Given the description of an element on the screen output the (x, y) to click on. 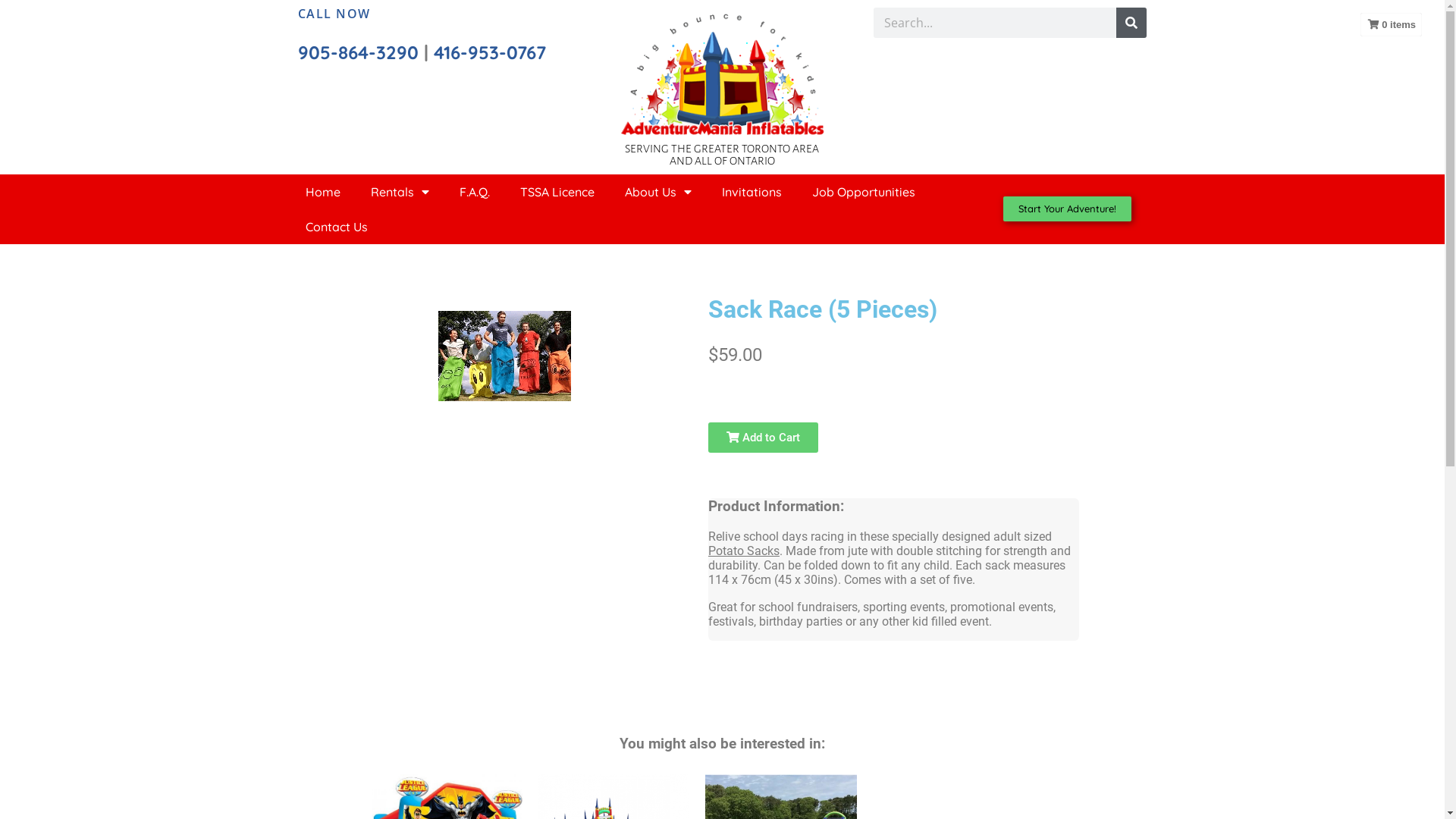
Start Your Adventure! Element type: text (1067, 208)
Sack Race (5 Pieces) Element type: hover (504, 355)
TSSA Licence Element type: text (557, 191)
F.A.Q. Element type: text (474, 191)
Rentals Element type: text (398, 191)
Add to Cart Element type: text (763, 437)
Contact Us Element type: text (335, 226)
Home Element type: text (321, 191)
416-953-0767 Element type: text (489, 51)
Invitations Element type: text (751, 191)
905-864-3290 Element type: text (357, 51)
About Us Element type: text (657, 191)
Job Opportunities Element type: text (862, 191)
